Given the description of an element on the screen output the (x, y) to click on. 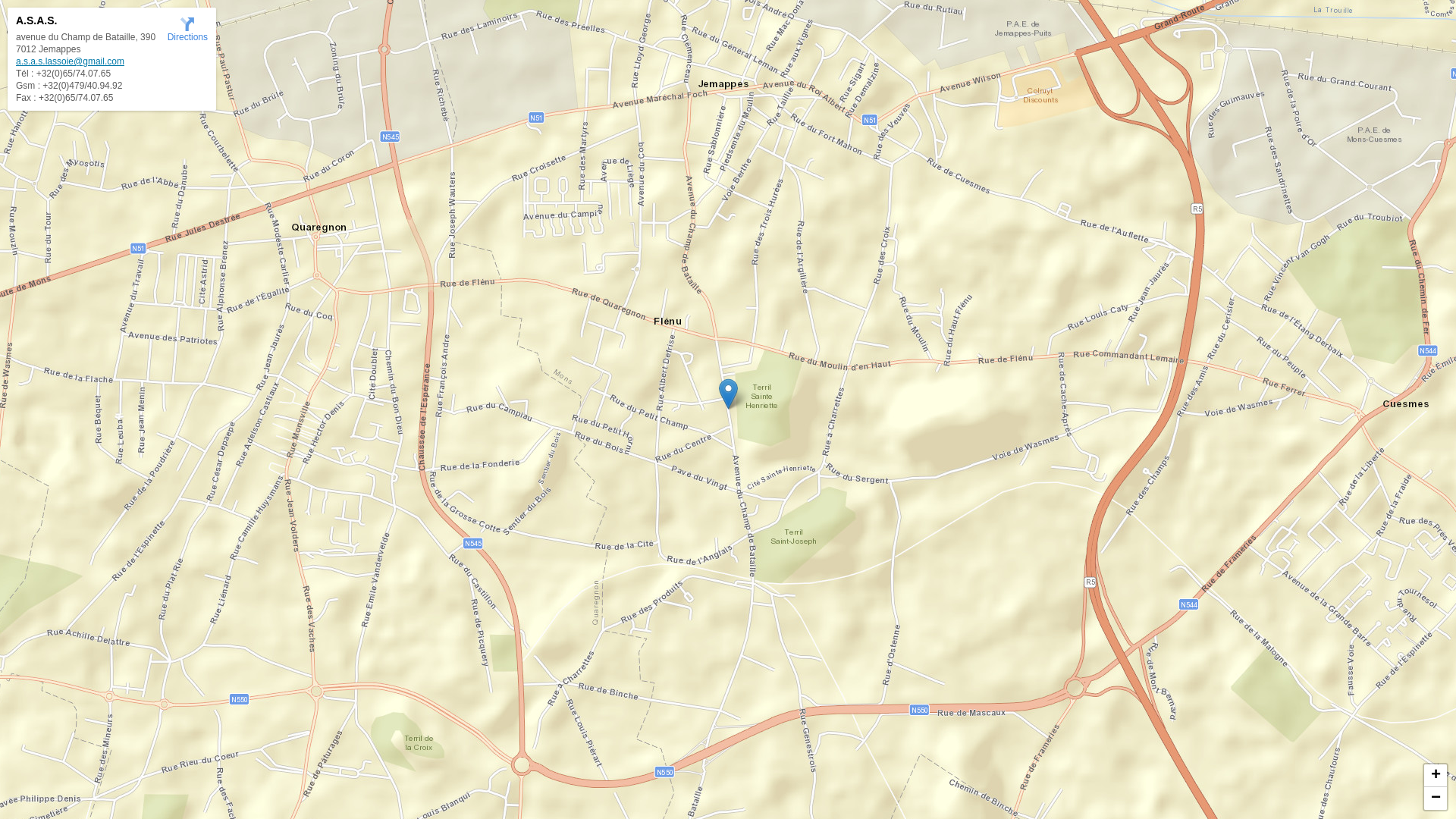
a.s.a.s.lassoie@gmail.com Element type: text (69, 61)
Directions Element type: text (187, 28)
+ Element type: text (1435, 775)
